Given the description of an element on the screen output the (x, y) to click on. 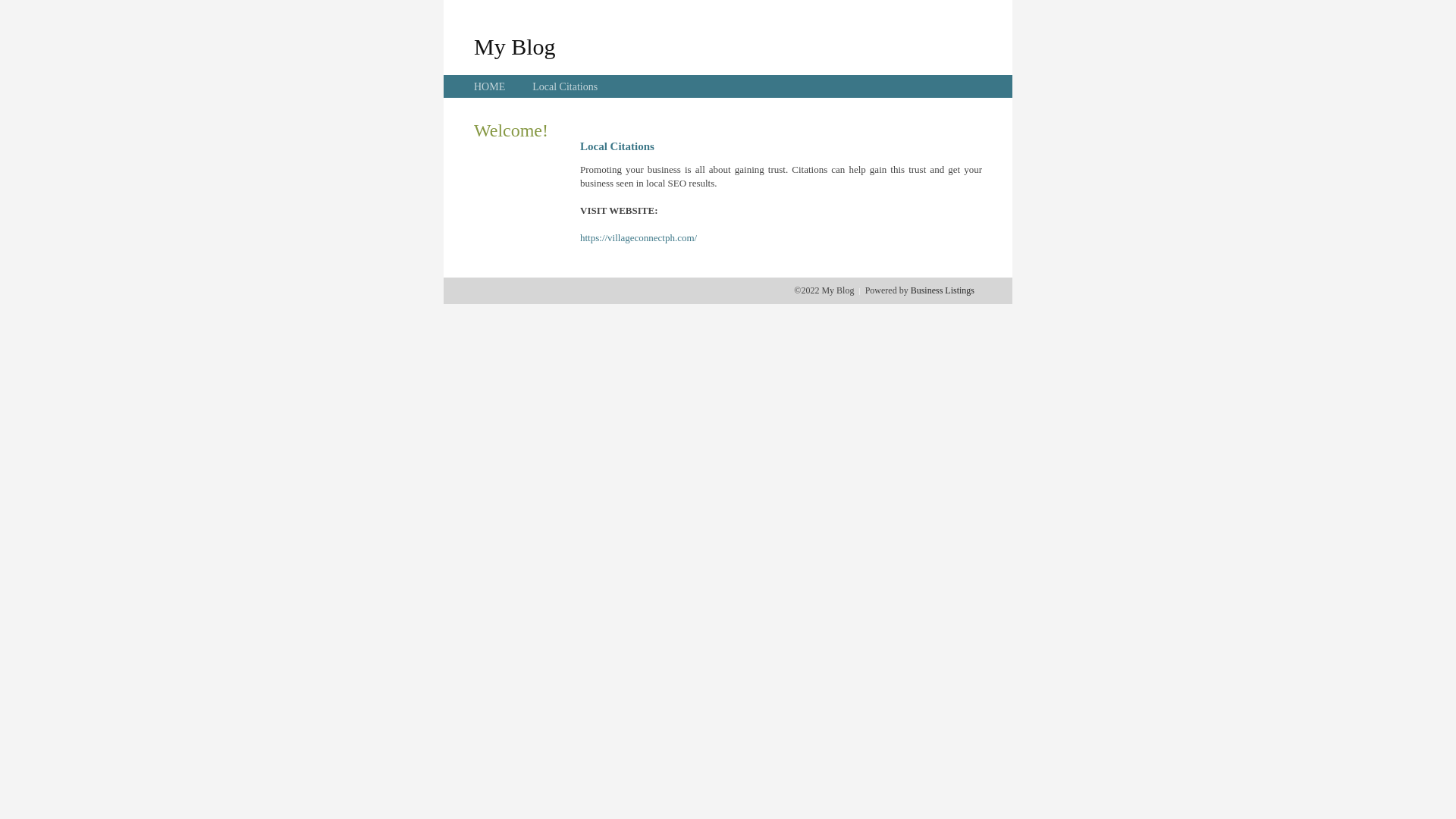
Local Citations Element type: text (564, 86)
My Blog Element type: text (514, 46)
https://villageconnectph.com/ Element type: text (638, 237)
HOME Element type: text (489, 86)
Business Listings Element type: text (942, 290)
